Given the description of an element on the screen output the (x, y) to click on. 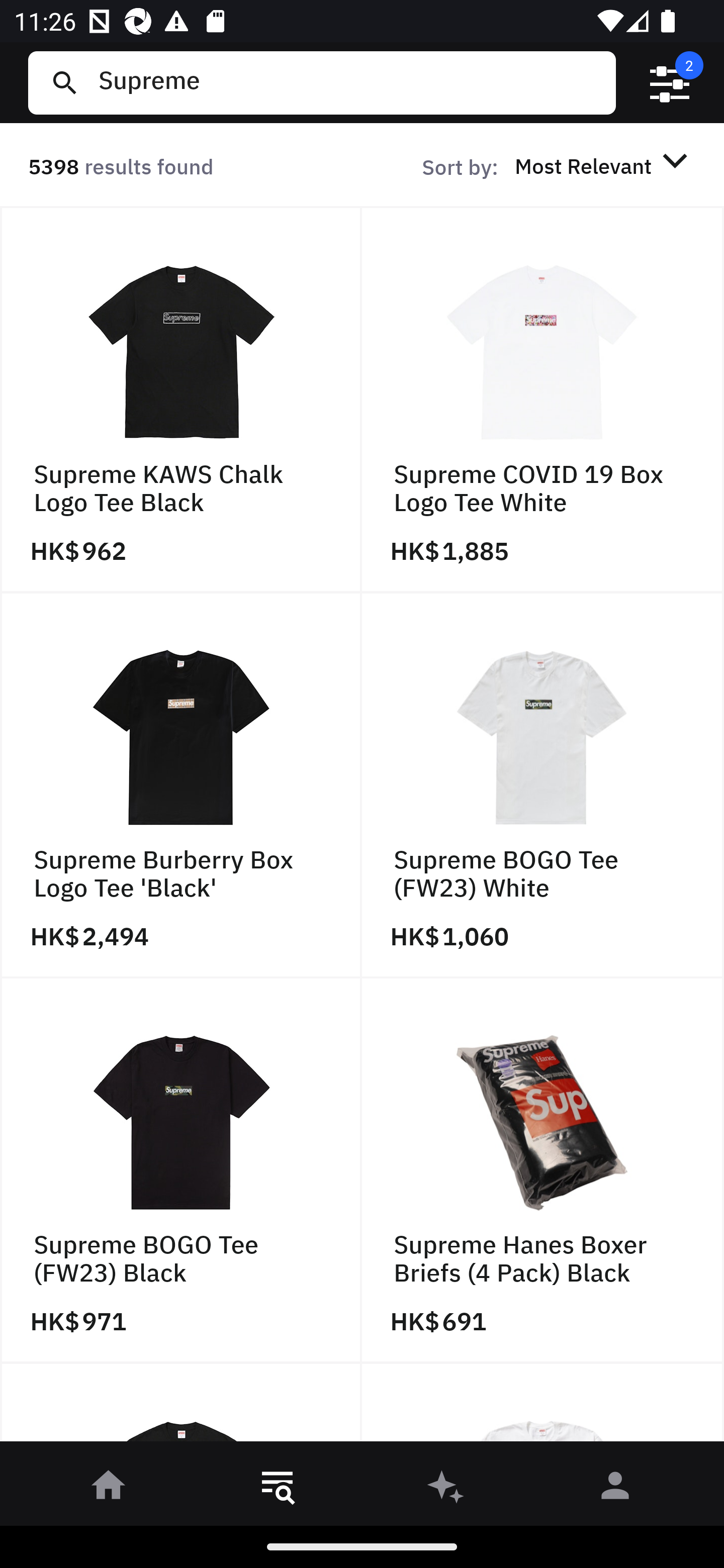
Supreme (349, 82)
 (669, 82)
Most Relevant  (604, 165)
Supreme KAWS Chalk Logo Tee Black HK$ 962 (181, 399)
Supreme COVID 19 Box Logo Tee White HK$ 1,885 (543, 399)
Supreme Burberry Box Logo Tee 'Black' HK$ 2,494 (181, 785)
Supreme BOGO Tee (FW23) White HK$ 1,060 (543, 785)
Supreme BOGO Tee (FW23) Black HK$ 971 (181, 1171)
Supreme Hanes Boxer Briefs (4 Pack) Black HK$ 691 (543, 1171)
󰋜 (108, 1488)
󱎸 (277, 1488)
󰫢 (446, 1488)
󰀄 (615, 1488)
